Given the description of an element on the screen output the (x, y) to click on. 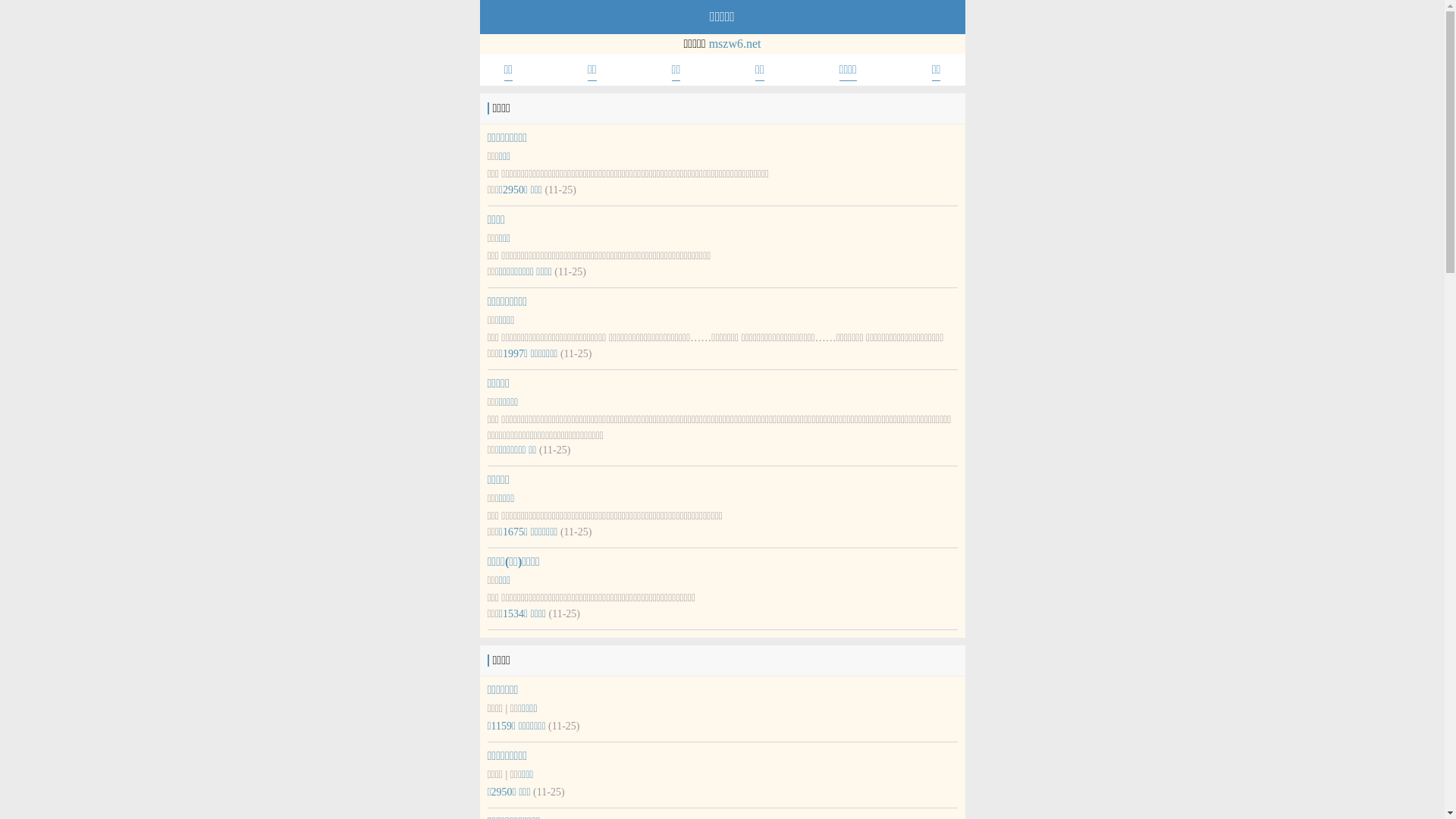
mszw6.net Element type: text (735, 43)
